Given the description of an element on the screen output the (x, y) to click on. 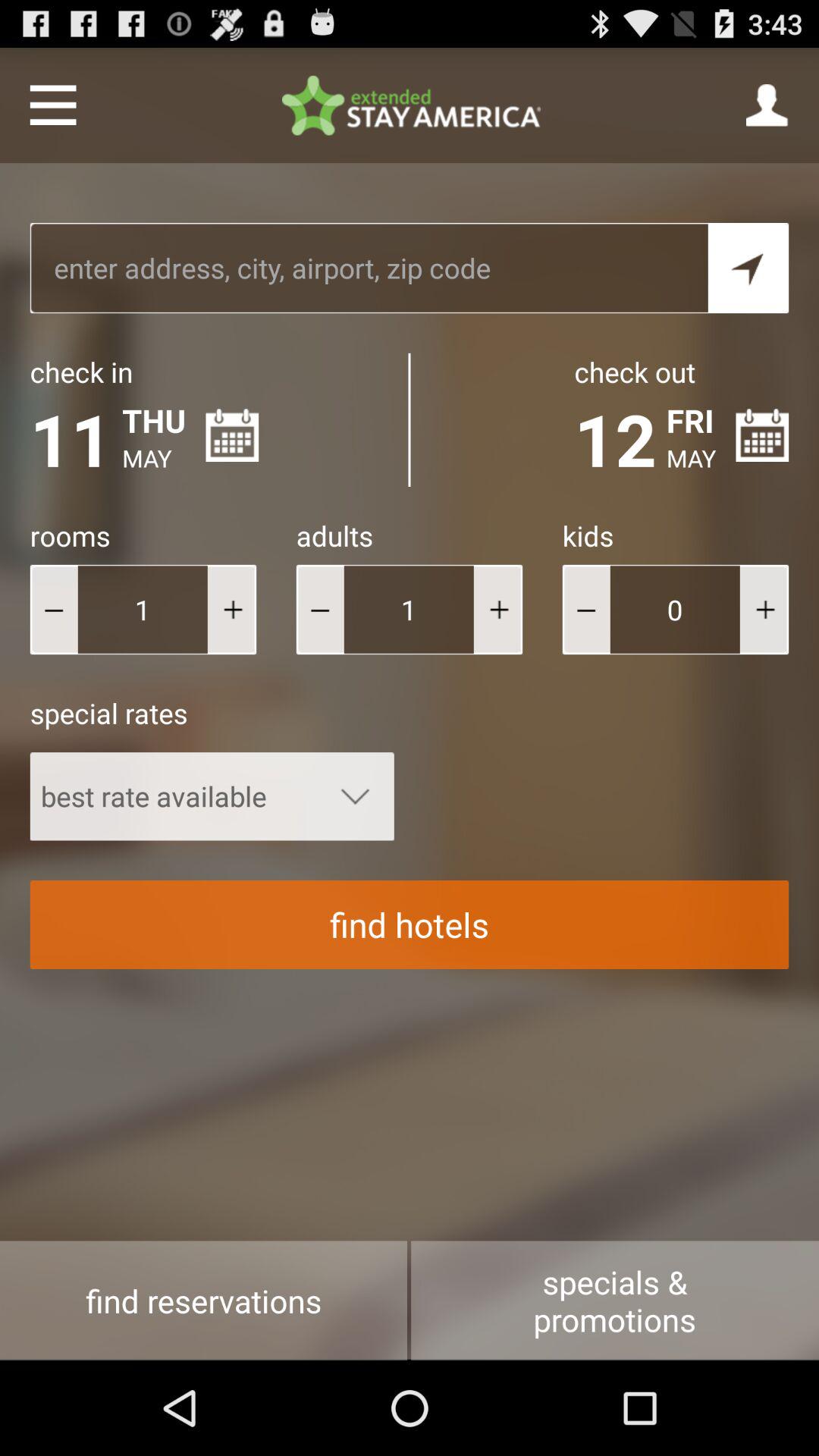
decrease the adults points (320, 609)
